Given the description of an element on the screen output the (x, y) to click on. 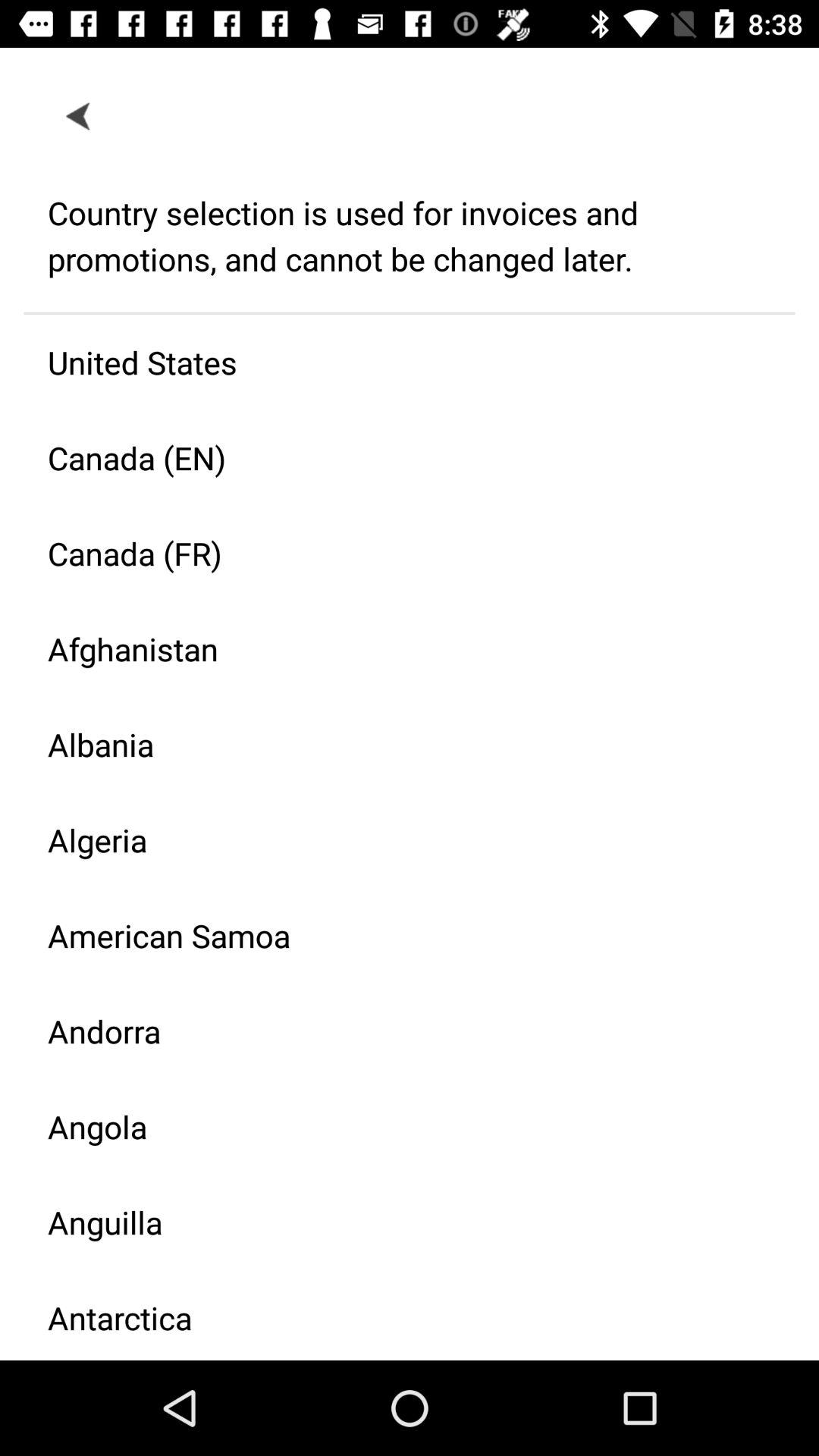
open icon below the andorra (397, 1126)
